Given the description of an element on the screen output the (x, y) to click on. 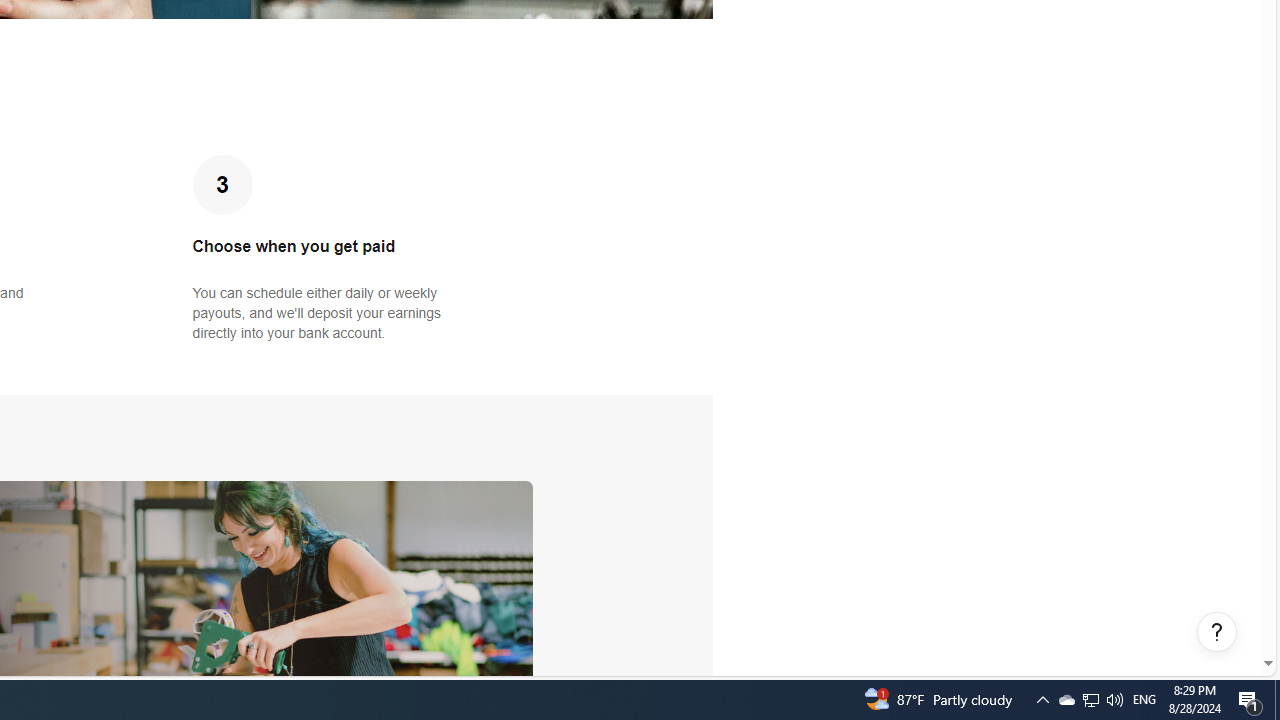
Help, opens dialogs (1217, 632)
